Given the description of an element on the screen output the (x, y) to click on. 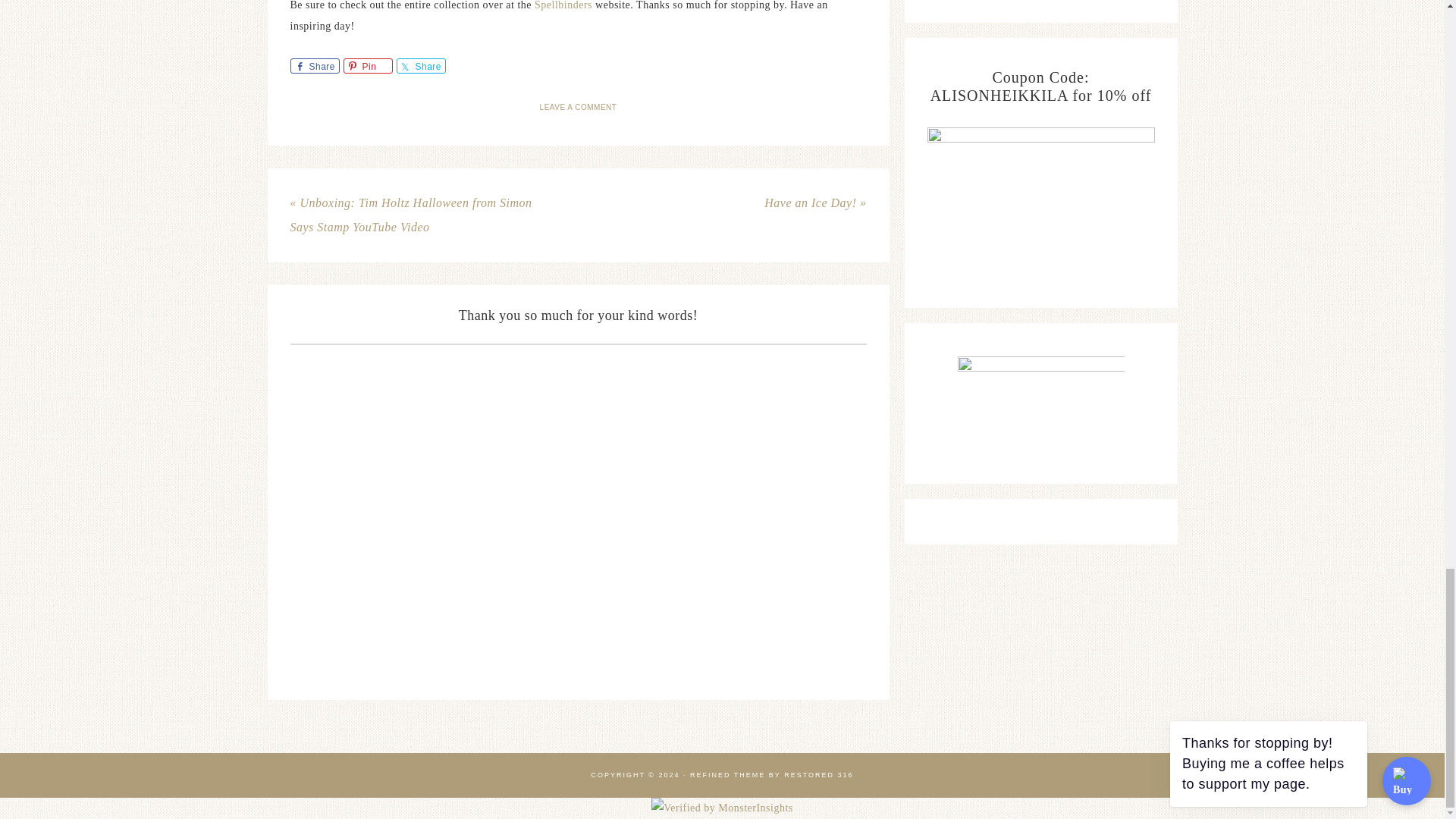
Share (420, 65)
Pin (366, 65)
LEAVE A COMMENT (578, 107)
Share (314, 65)
Spellbinders  (564, 5)
REFINED THEME (727, 774)
